Given the description of an element on the screen output the (x, y) to click on. 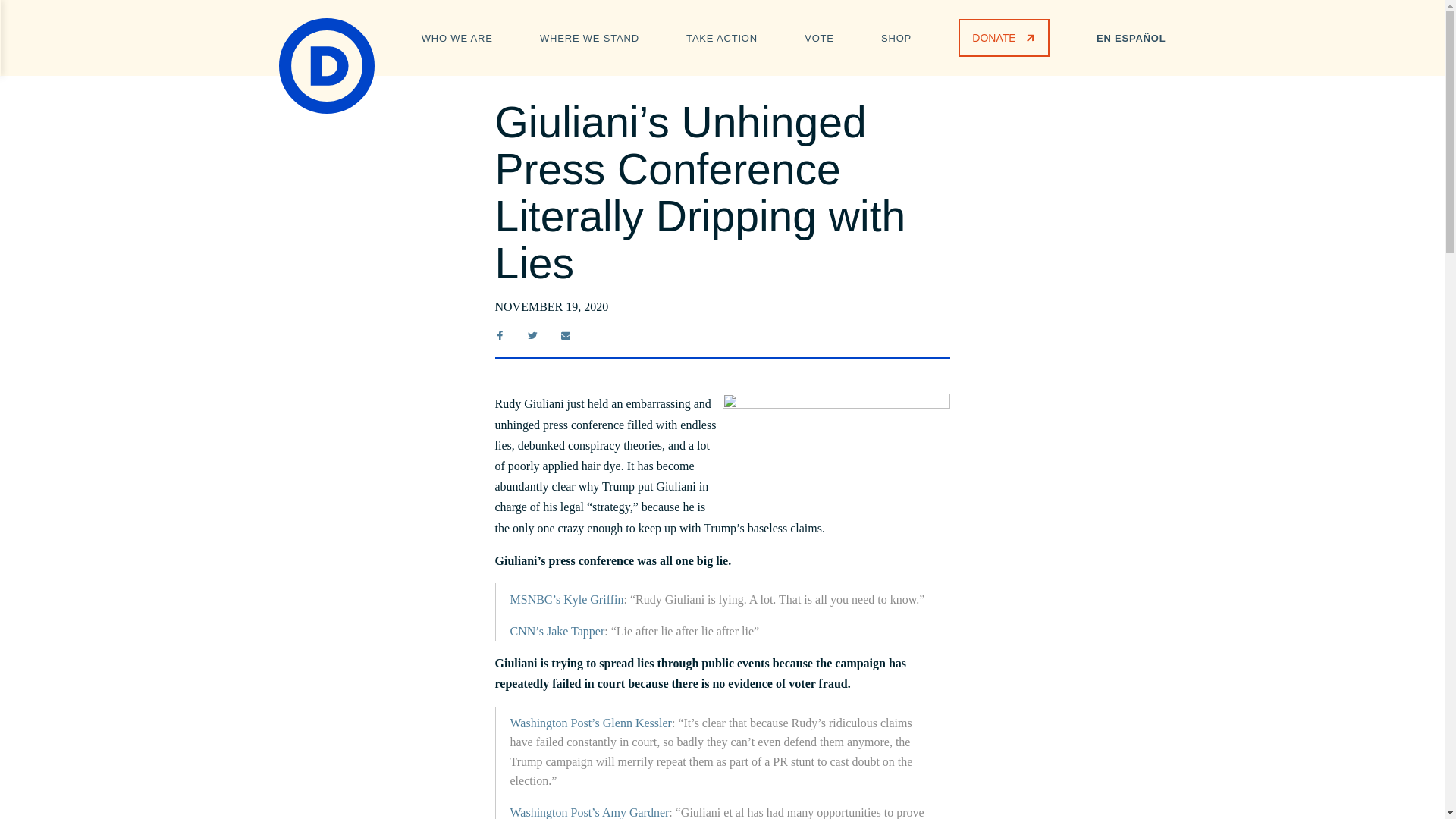
email (565, 335)
TAKE ACTION (721, 36)
VOTE (819, 36)
facebook (499, 335)
SHOP (895, 36)
twitter (532, 335)
WHERE WE STAND (589, 36)
WHO WE ARE (457, 36)
DNC (326, 65)
DONATE (1003, 37)
